Given the description of an element on the screen output the (x, y) to click on. 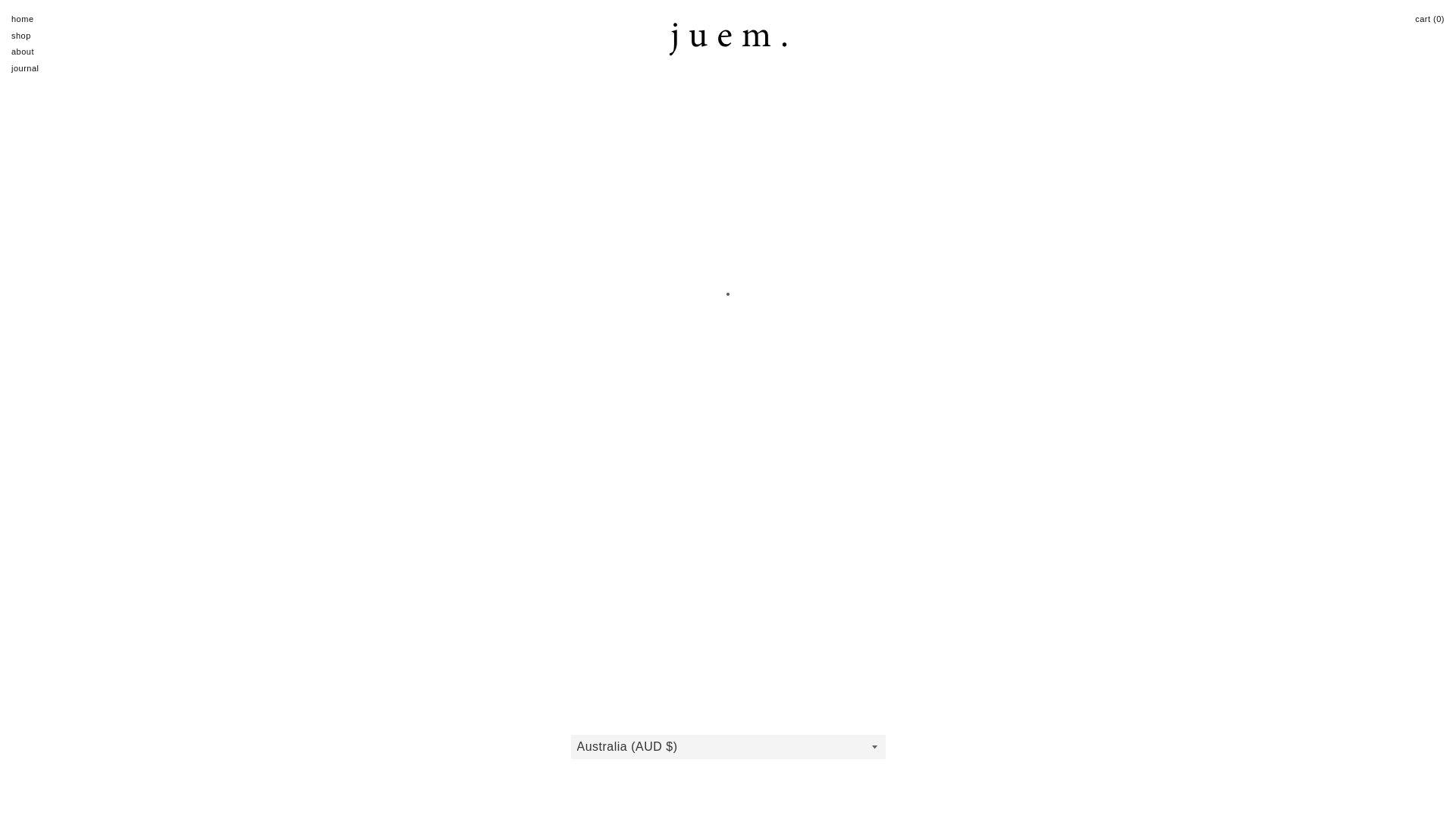
juem on Instagram Element type: hover (1433, 720)
juem on Facebook Element type: hover (1409, 720)
Subscribe Element type: text (1257, 719)
terms of service Element type: text (463, 720)
shop Element type: text (36, 36)
sizing Element type: text (129, 720)
ethical + social Element type: text (329, 720)
shipping & returns Element type: text (196, 720)
here Element type: text (425, 125)
search Element type: text (86, 720)
stockists Element type: text (395, 720)
refund policy Element type: text (540, 720)
juem. Element type: text (728, 41)
about Element type: text (36, 51)
home Element type: text (36, 19)
journal Element type: text (36, 68)
contact Element type: text (266, 720)
